Given the description of an element on the screen output the (x, y) to click on. 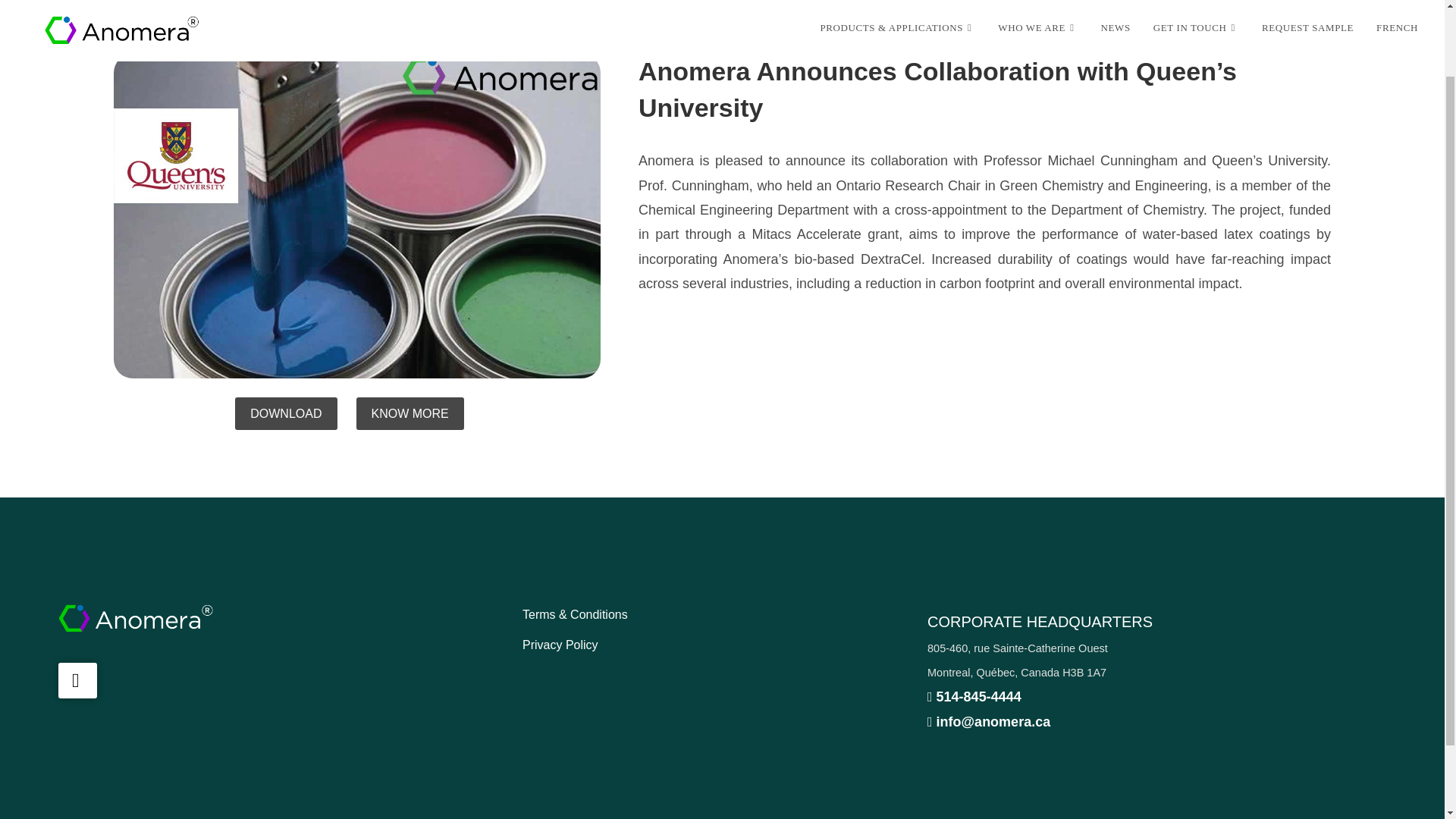
DOWNLOAD (285, 413)
514-845-4444 (974, 696)
KNOW MORE (410, 413)
Privacy Policy (560, 644)
